Given the description of an element on the screen output the (x, y) to click on. 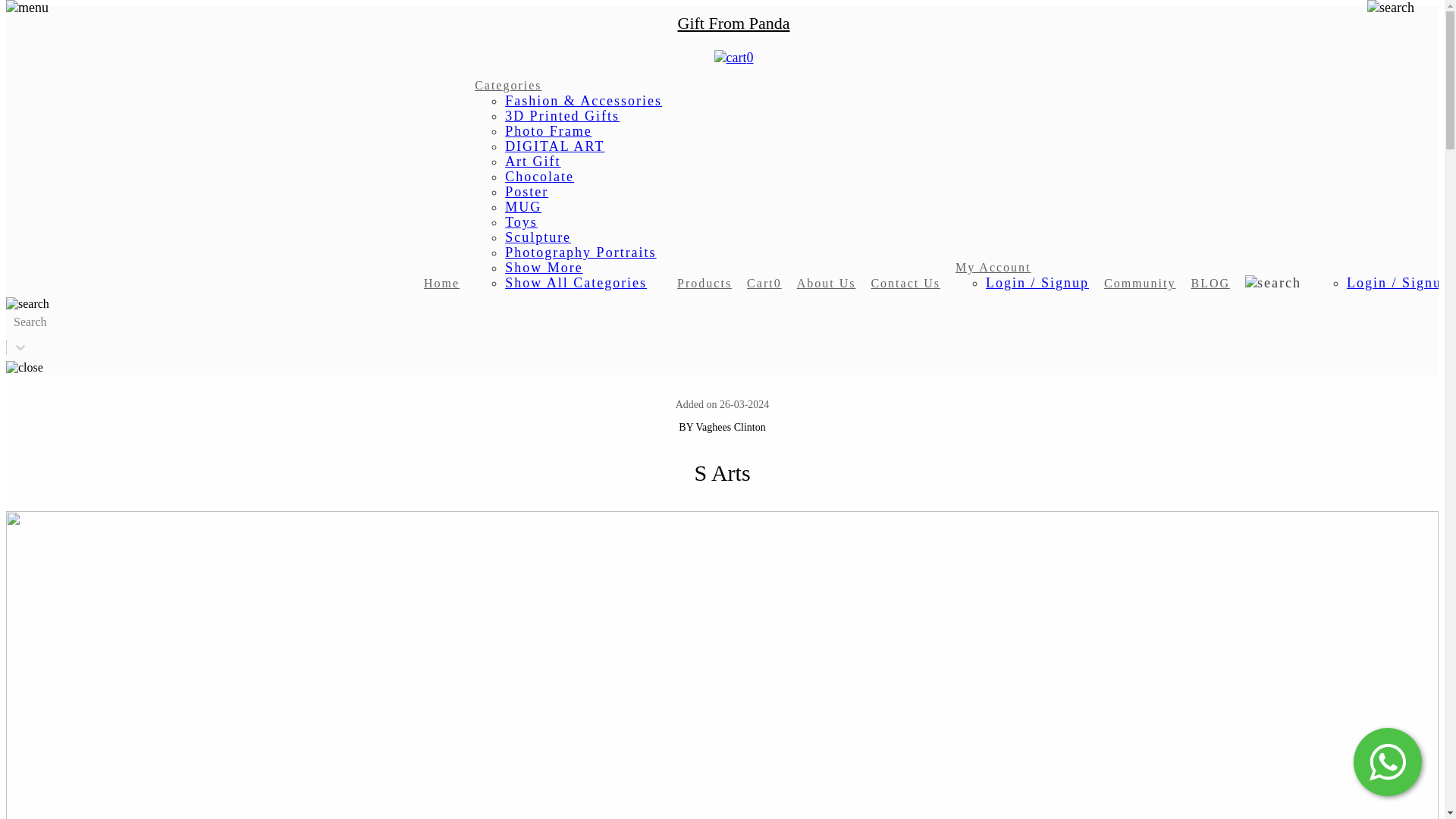
Cart0 (763, 283)
BLOG (1210, 283)
Community (1138, 283)
Contact Us (905, 283)
Show All Categories (575, 282)
0 (734, 57)
Show More (544, 267)
3D Printed Gifts (562, 115)
Sculpture (537, 237)
About Us (826, 283)
Categories (507, 85)
MUG (523, 206)
Chocolate (539, 176)
Products (704, 283)
Art Gift (532, 160)
